Given the description of an element on the screen output the (x, y) to click on. 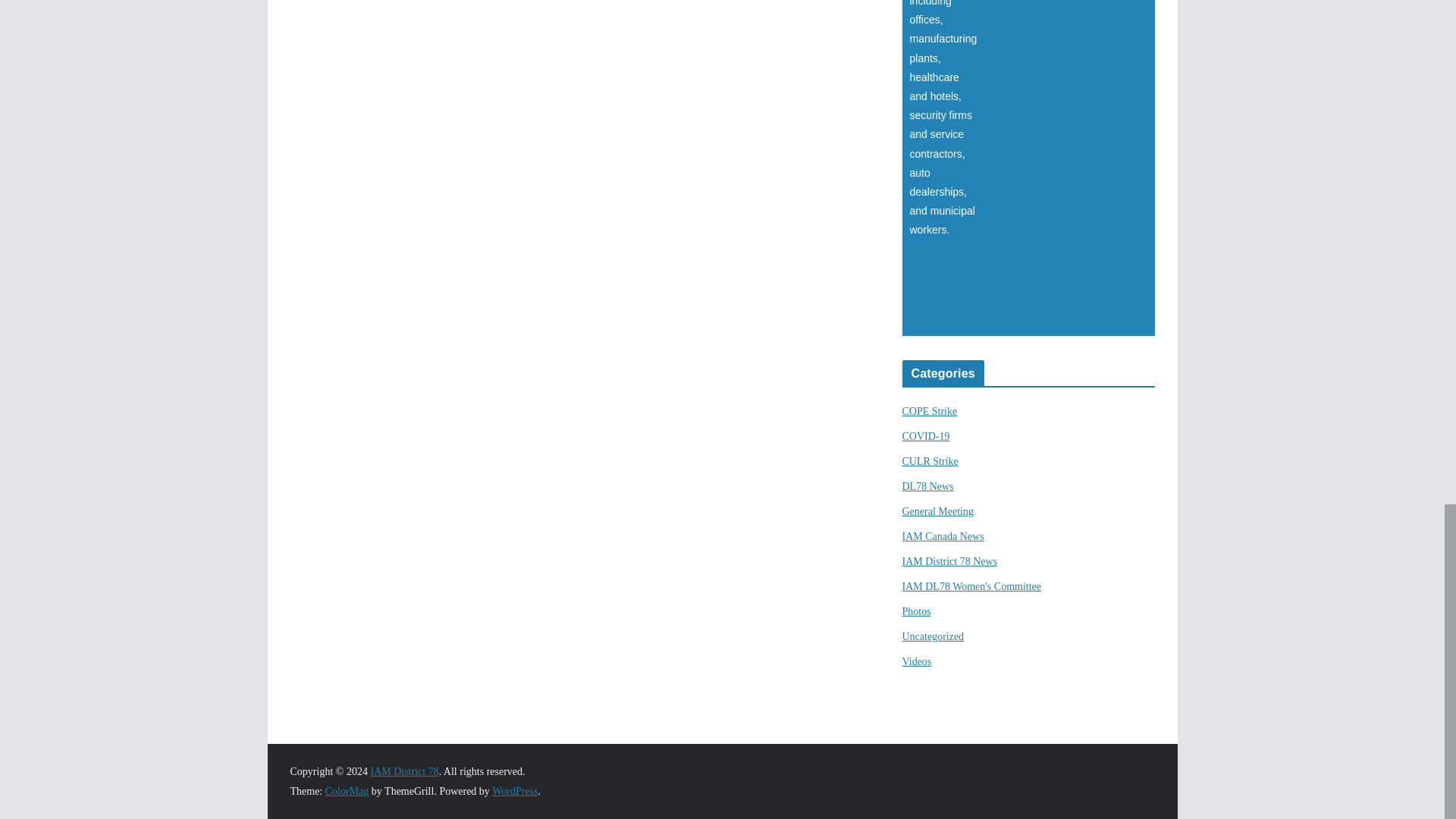
COVID-19 (926, 436)
IAM Canada News (943, 536)
General Meeting (938, 511)
ColorMag (346, 790)
IAM District 78 (403, 771)
IAM District 78 News (949, 561)
CULR Strike (930, 460)
DL78 News (927, 486)
COPE Strike (930, 410)
WordPress (514, 790)
